Given the description of an element on the screen output the (x, y) to click on. 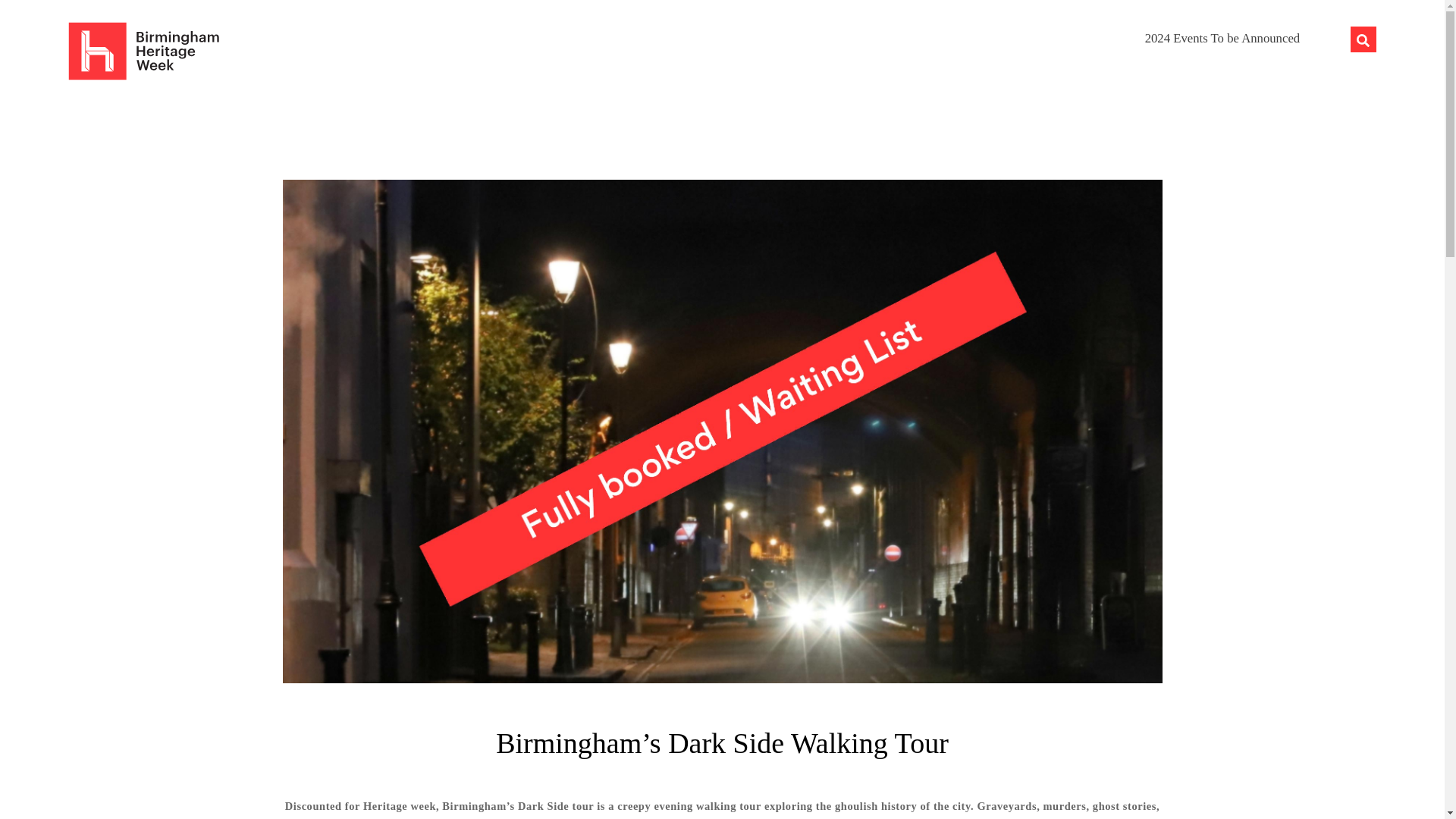
2024 Events To be Announced (721, 35)
birminghams-dark-side-1-s (1222, 38)
Birmingham Heritage Week (1363, 39)
